Given the description of an element on the screen output the (x, y) to click on. 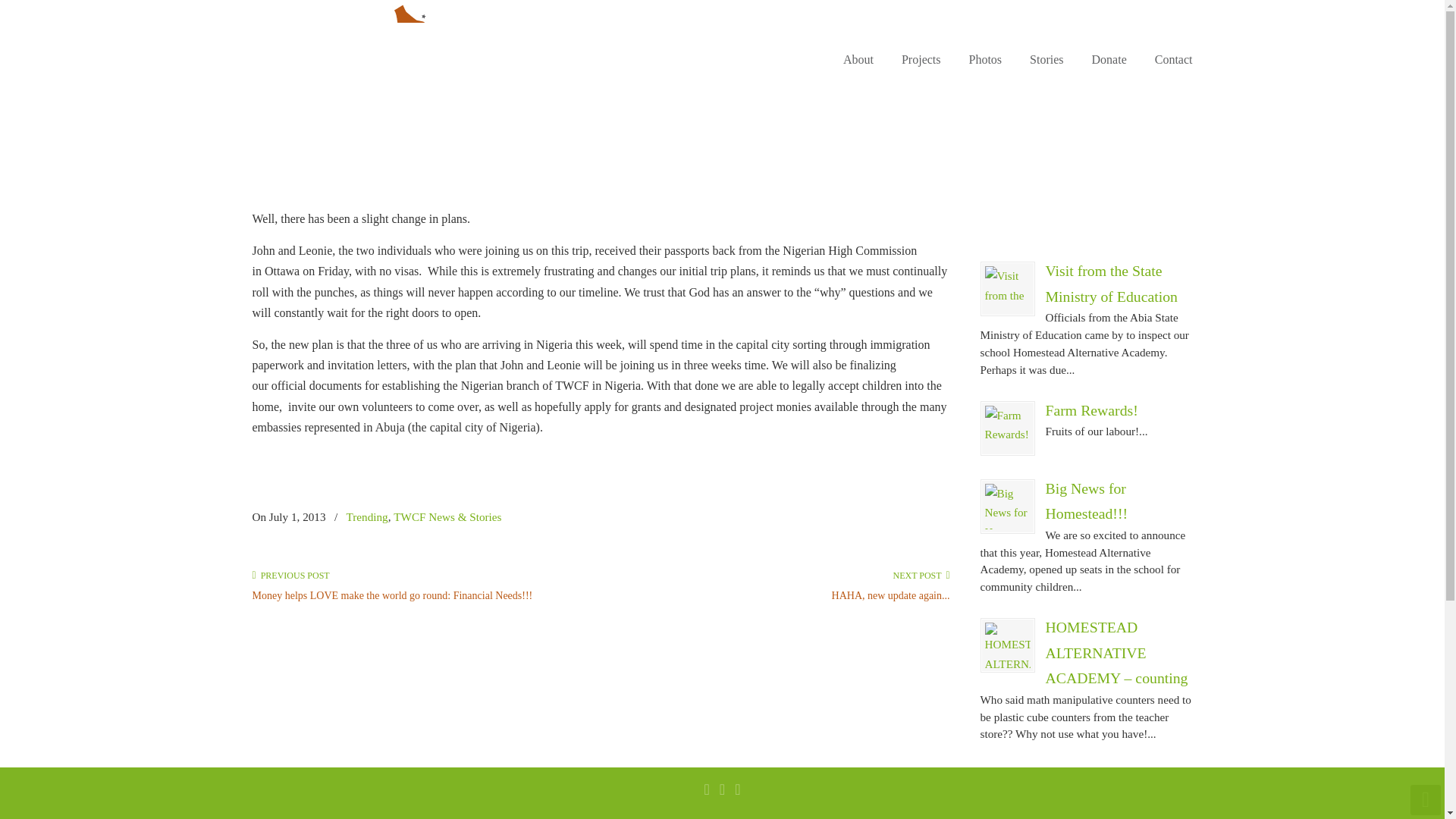
Contact (1174, 60)
Donate (1109, 60)
Big News for Homestead!!! (1085, 500)
Big News for Homestead!!! (1006, 506)
Go to previous post (290, 575)
Photos (985, 60)
Farm Rewards! (1006, 428)
Trending (367, 516)
Big News for Homestead!!! (1085, 500)
Visit from the State Ministry of Education (1110, 283)
Projects (921, 60)
HAHA, new update again... (890, 595)
Farm Rewards! (1091, 410)
HAHA, new update again... (890, 595)
About (858, 60)
